Given the description of an element on the screen output the (x, y) to click on. 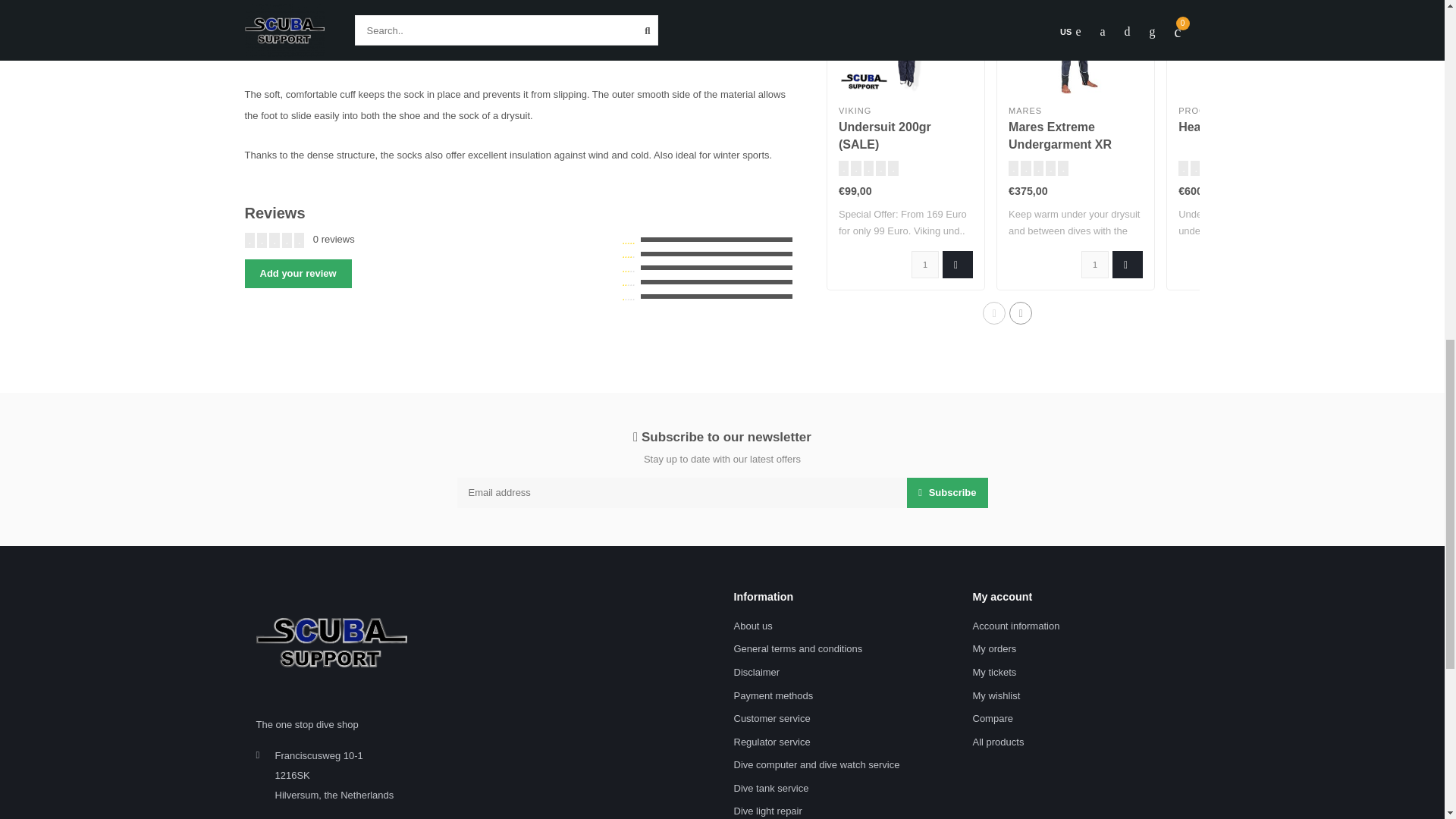
General terms and conditions (798, 649)
1 (925, 264)
About us (753, 626)
1 (1094, 264)
